Given the description of an element on the screen output the (x, y) to click on. 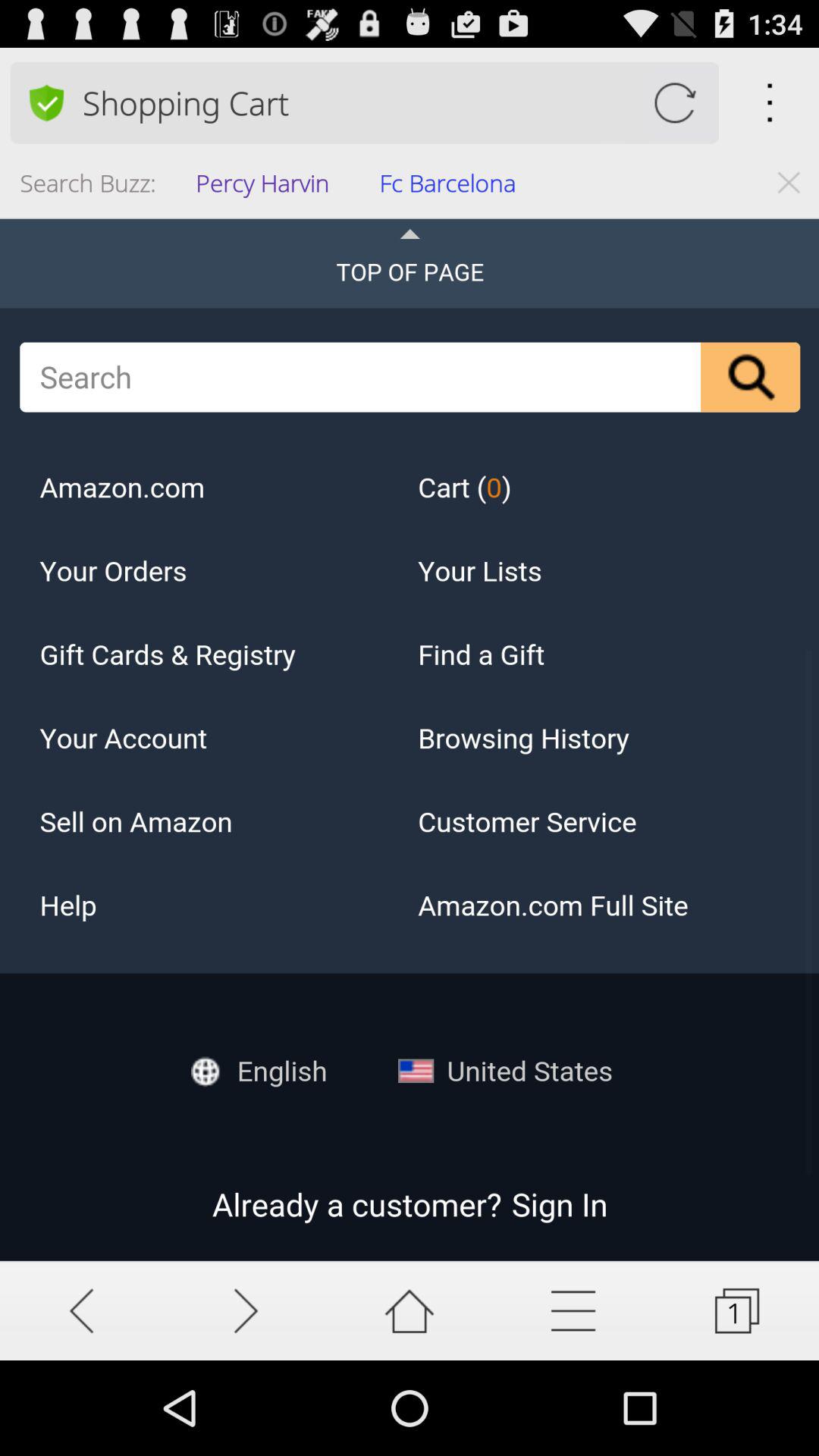
refresh (674, 102)
